Given the description of an element on the screen output the (x, y) to click on. 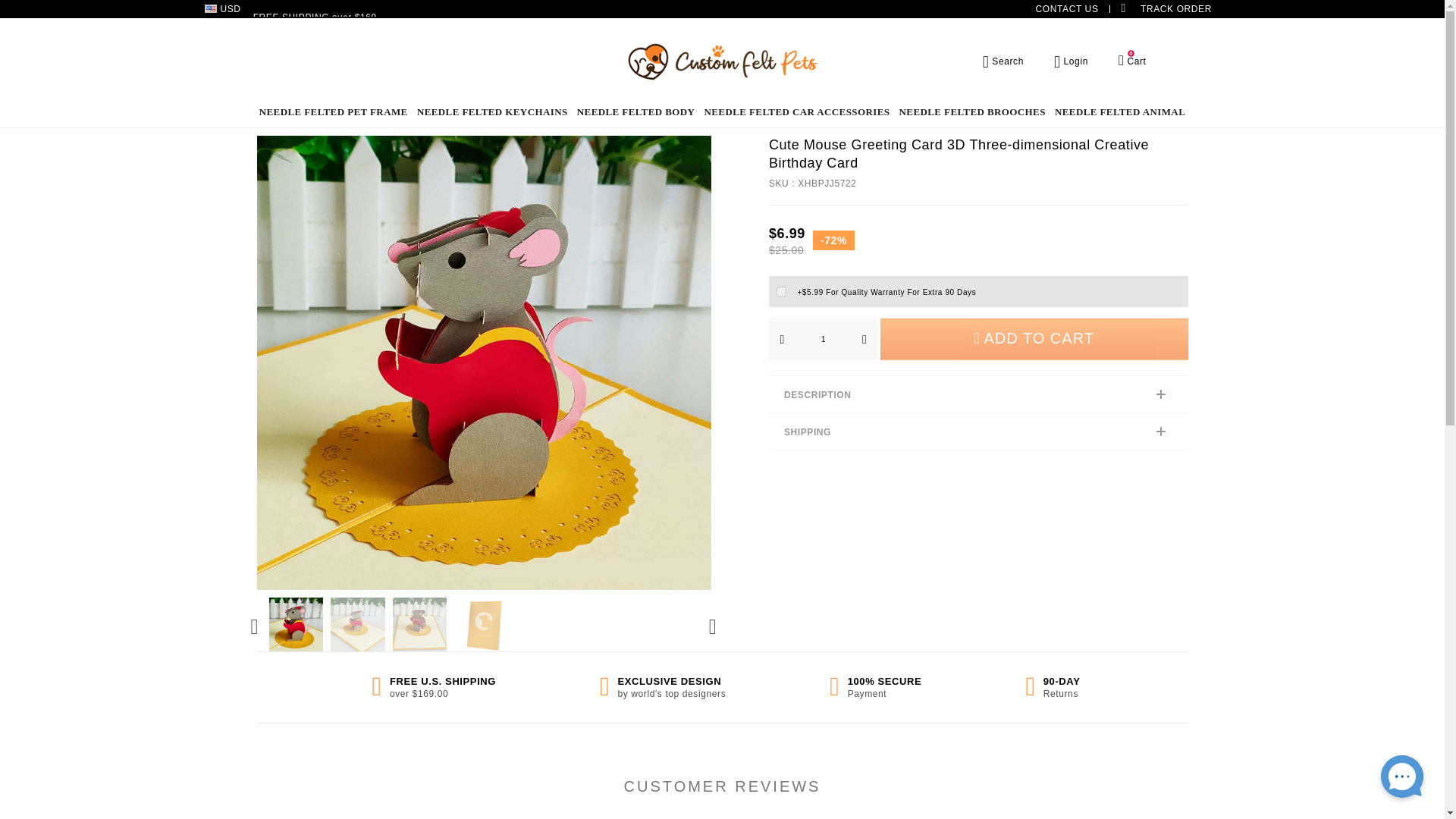
CONTACT US (1067, 9)
Login (1070, 60)
1 (1132, 60)
97f2eef7-5c84-43a8-afb9-8d3efc4c7f9e (822, 339)
TRACK ORDER (781, 291)
